Given the description of an element on the screen output the (x, y) to click on. 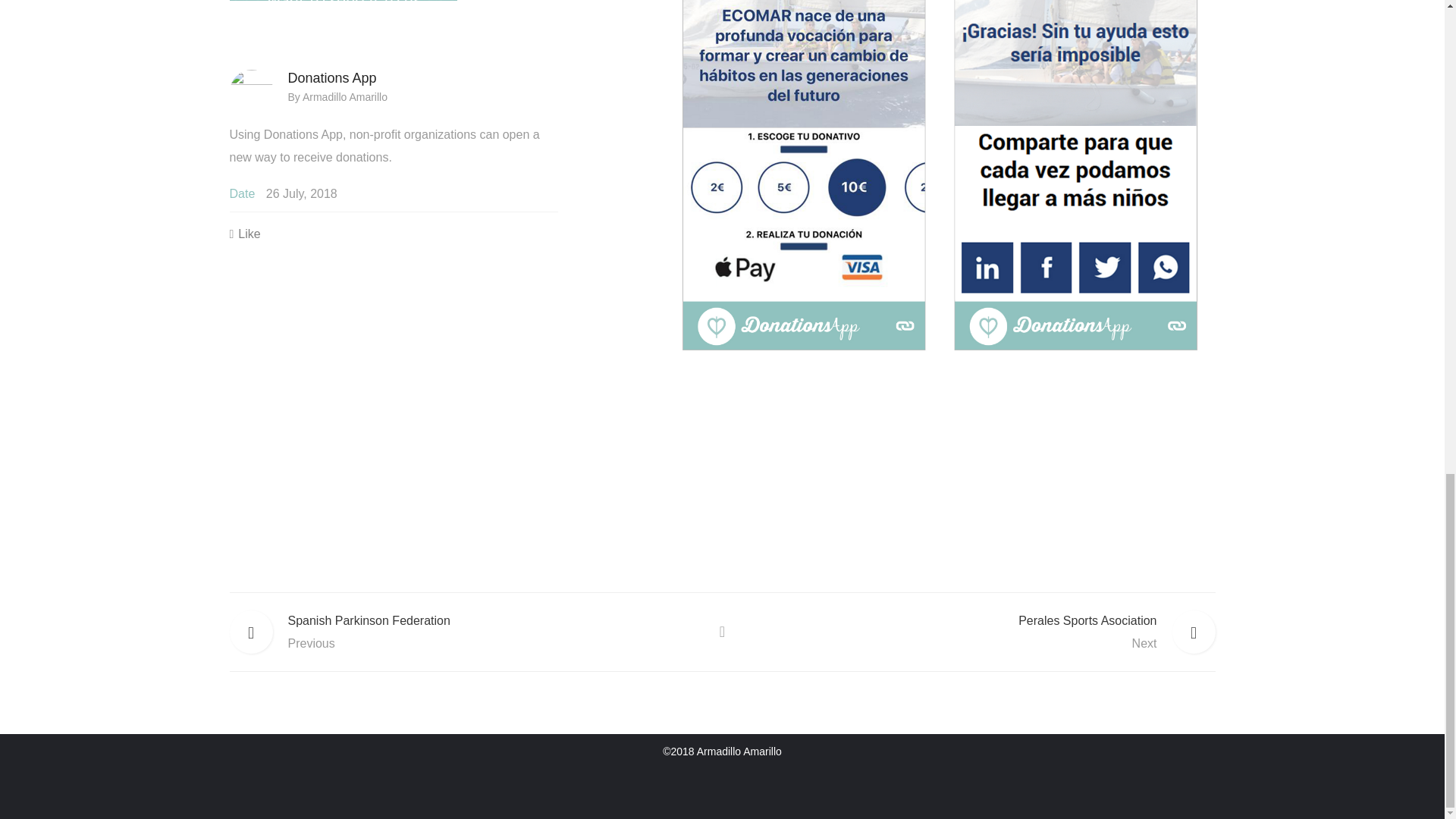
Like this (244, 233)
